Given the description of an element on the screen output the (x, y) to click on. 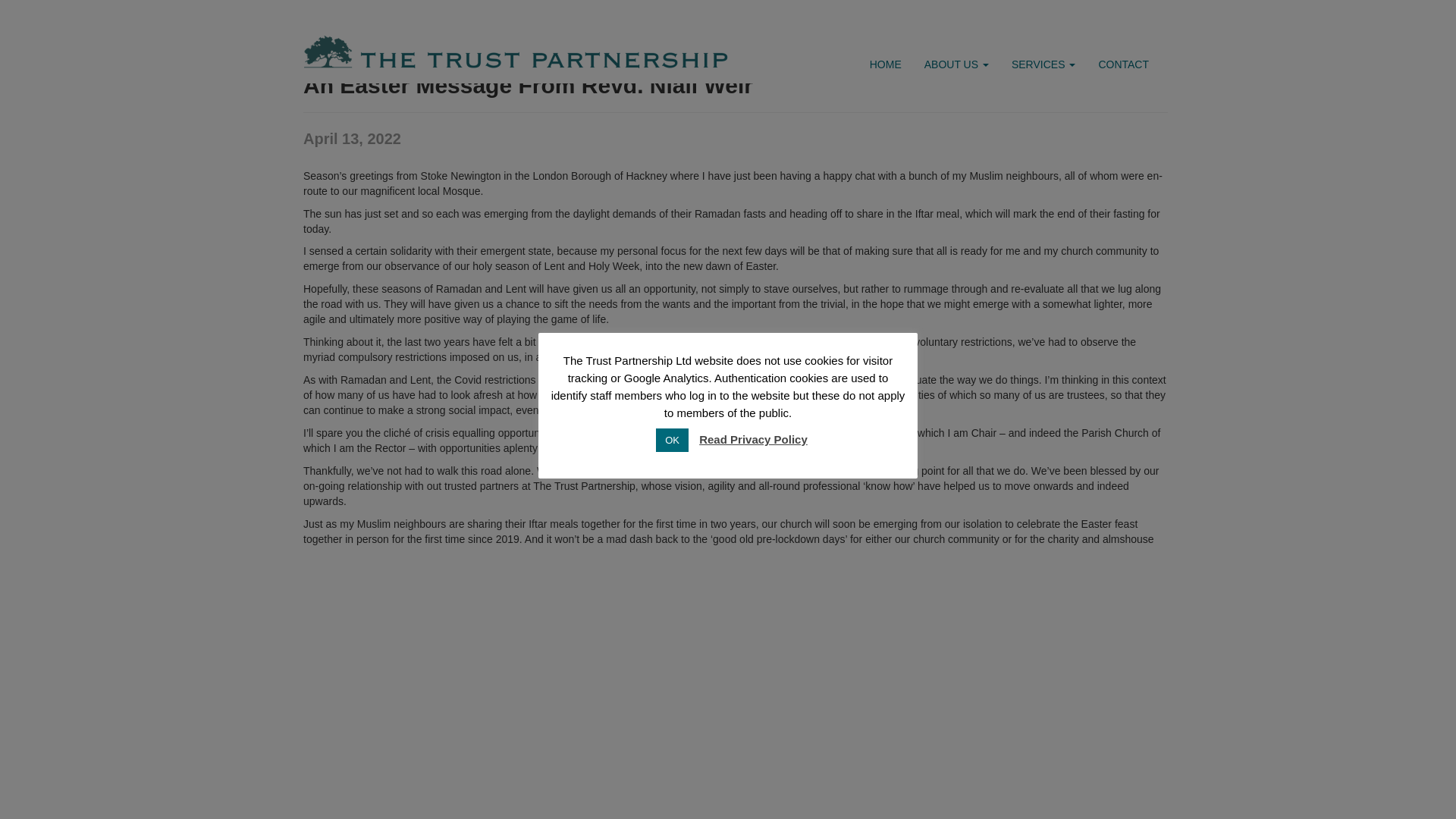
Home (316, 38)
The Trust Partnership (316, 38)
Wednesday, April 13, 2022, 4:19 pm (351, 138)
Read Privacy Policy (753, 154)
OK (672, 155)
